Given the description of an element on the screen output the (x, y) to click on. 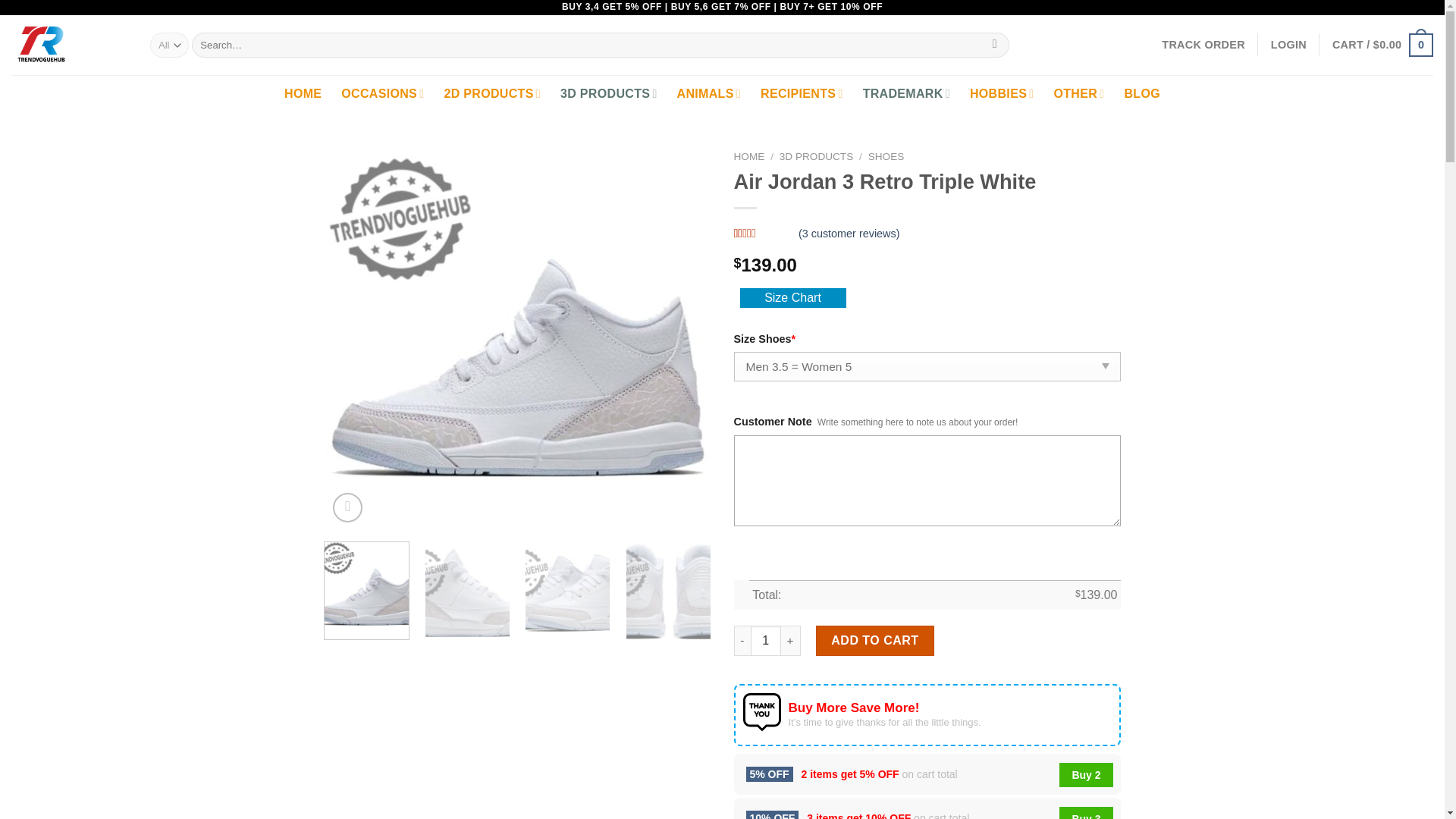
HOME (302, 94)
LOGIN (1288, 44)
OCCASIONS (381, 94)
ANIMALS (709, 94)
2D PRODUCTS (492, 94)
TRACK ORDER (1202, 44)
Trendvoguehub - Just Your Style (69, 45)
1 (765, 640)
Air Jordan 3 Retro Triple White (904, 266)
